Given the description of an element on the screen output the (x, y) to click on. 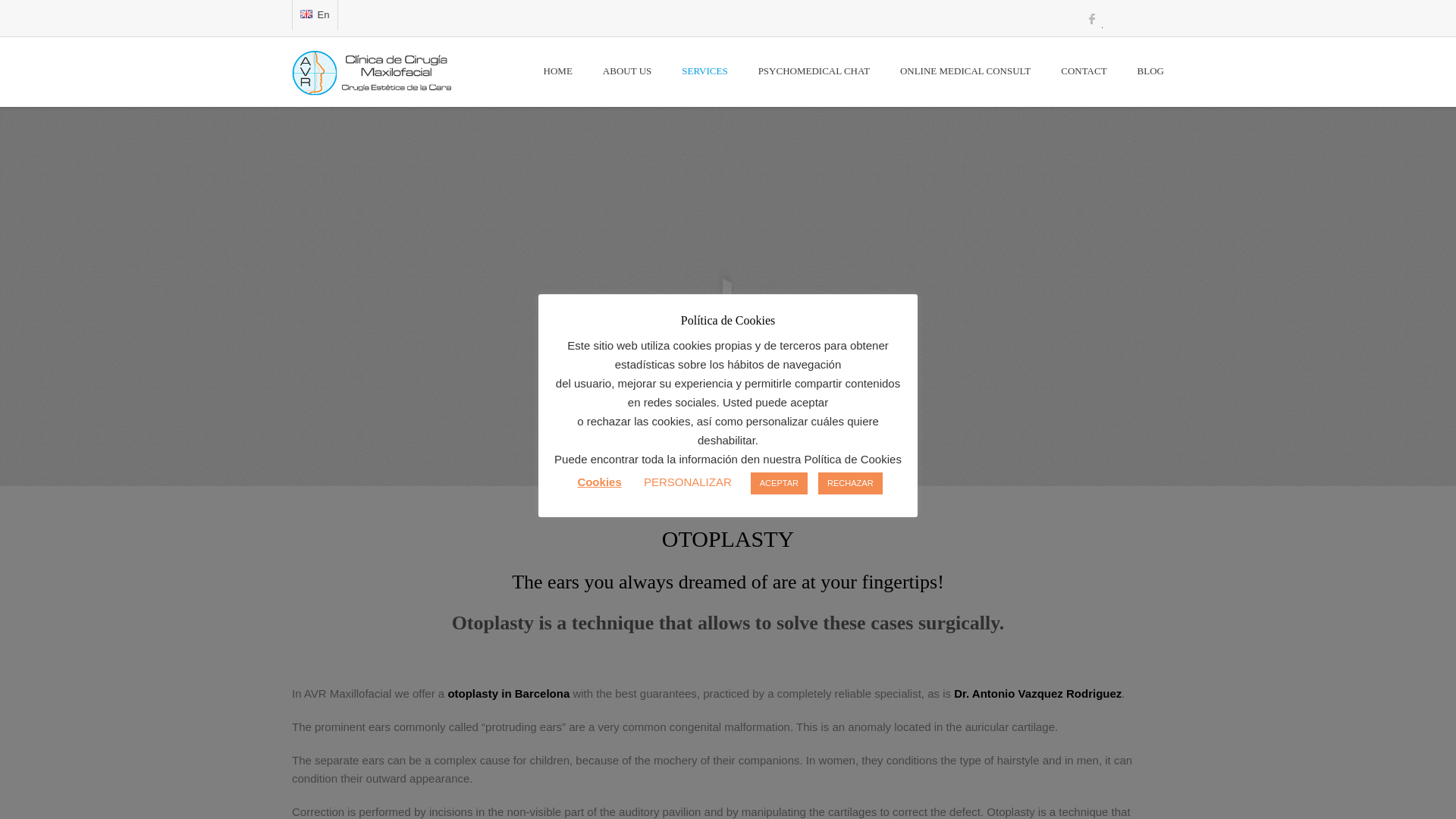
. (1092, 24)
ONLINE MEDICAL CONSULT (965, 72)
HOME (558, 72)
PSYCHOMEDICAL CHAT (813, 72)
ABOUT US (627, 72)
CONTACT (1083, 72)
AVR (378, 78)
En (314, 15)
En (306, 13)
BLOG (1142, 72)
